Given the description of an element on the screen output the (x, y) to click on. 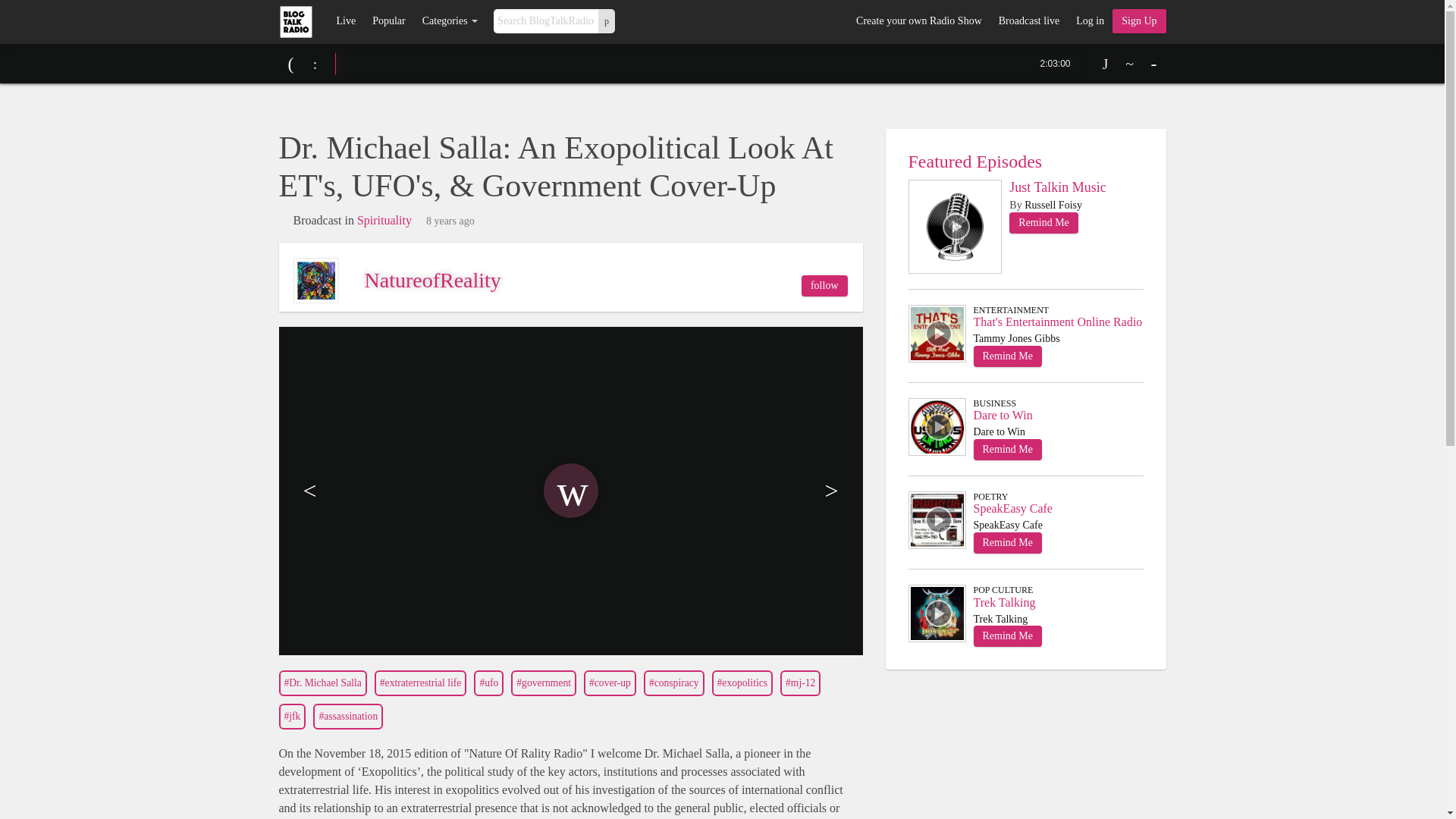
Download this episode (1105, 63)
Log in (1089, 20)
Broadcast live (1028, 20)
Thu, November 19, 2015 07:00 am (450, 221)
Live (345, 20)
Create your own Radio Show (918, 20)
Popular (388, 20)
Create My Talk Show (1139, 21)
Embed this episode (1129, 63)
Sign Up (1139, 21)
Follow NatureofReality (824, 285)
Categories (449, 20)
